Given the description of an element on the screen output the (x, y) to click on. 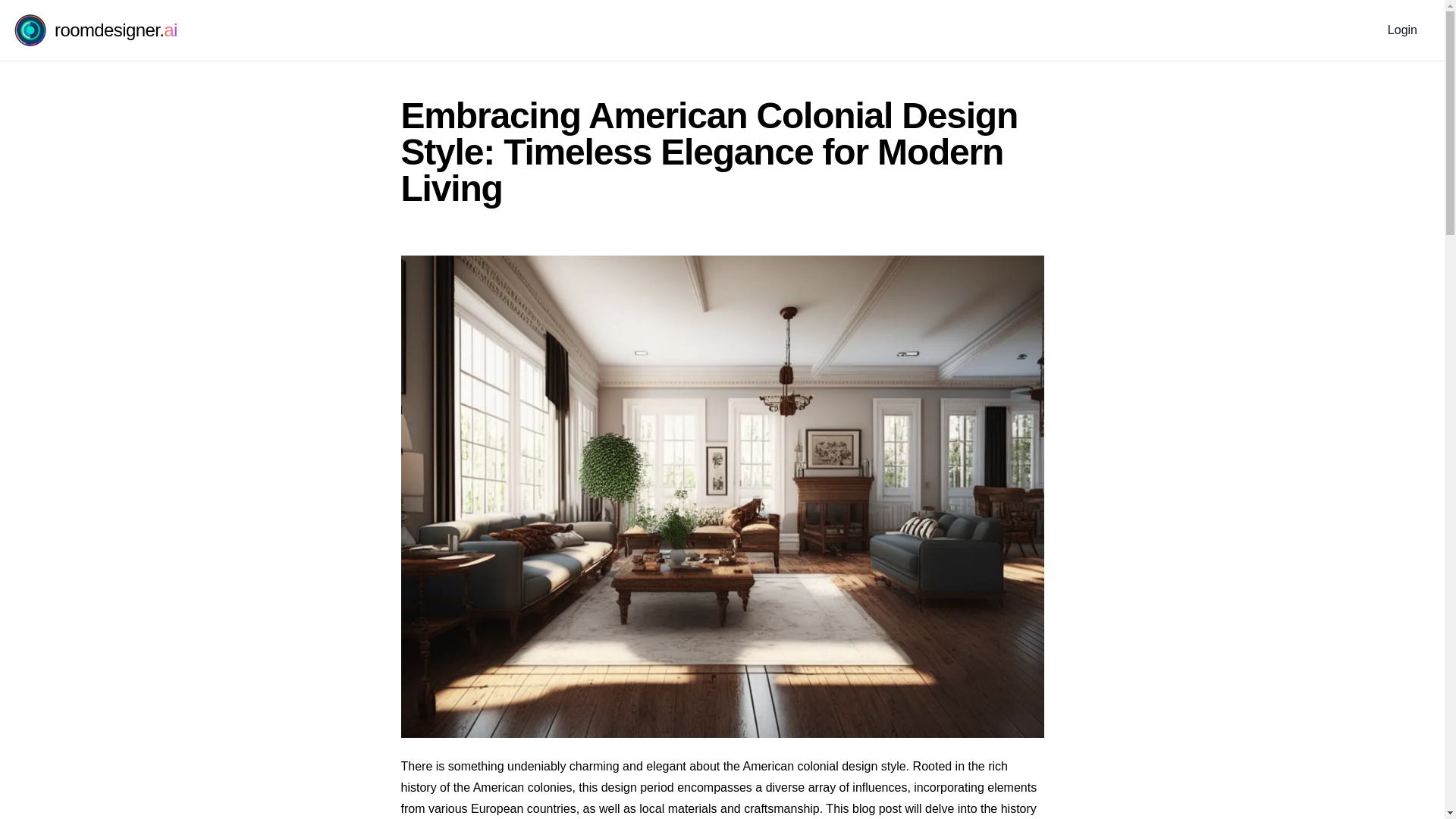
Login (1402, 30)
roomdesigner.ai (94, 30)
